Given the description of an element on the screen output the (x, y) to click on. 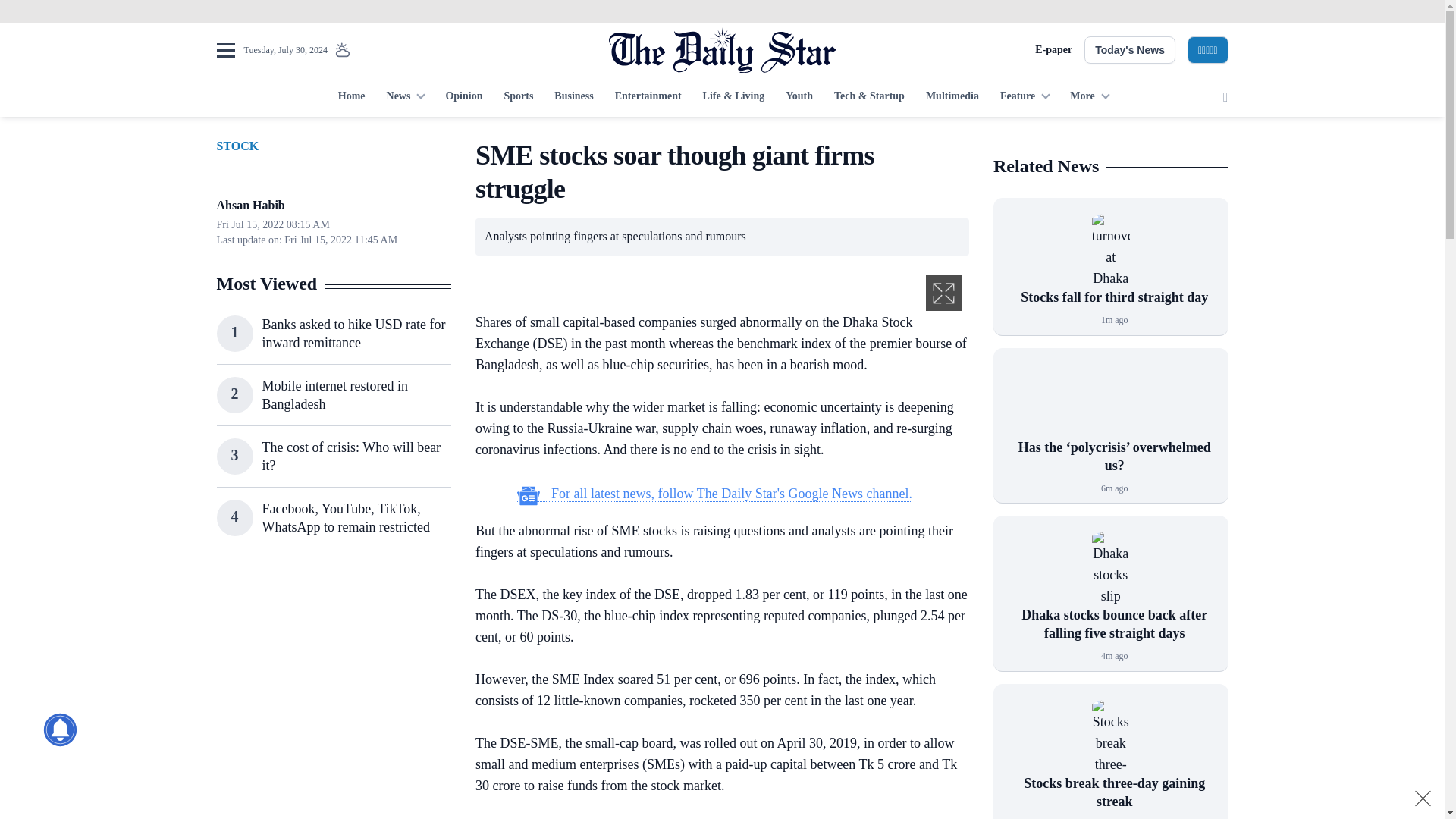
E-paper (1053, 49)
Home (351, 96)
Today's News (1129, 49)
Multimedia (952, 96)
Business (573, 96)
Youth (799, 96)
Dhaka Stock Exchange (1110, 568)
News (405, 96)
turnover at Dhaka stock exchange (1110, 250)
Entertainment (647, 96)
Feature (1024, 96)
Stocks break three-day rising streak (1110, 736)
Opinion (463, 96)
Sports (518, 96)
